Given the description of an element on the screen output the (x, y) to click on. 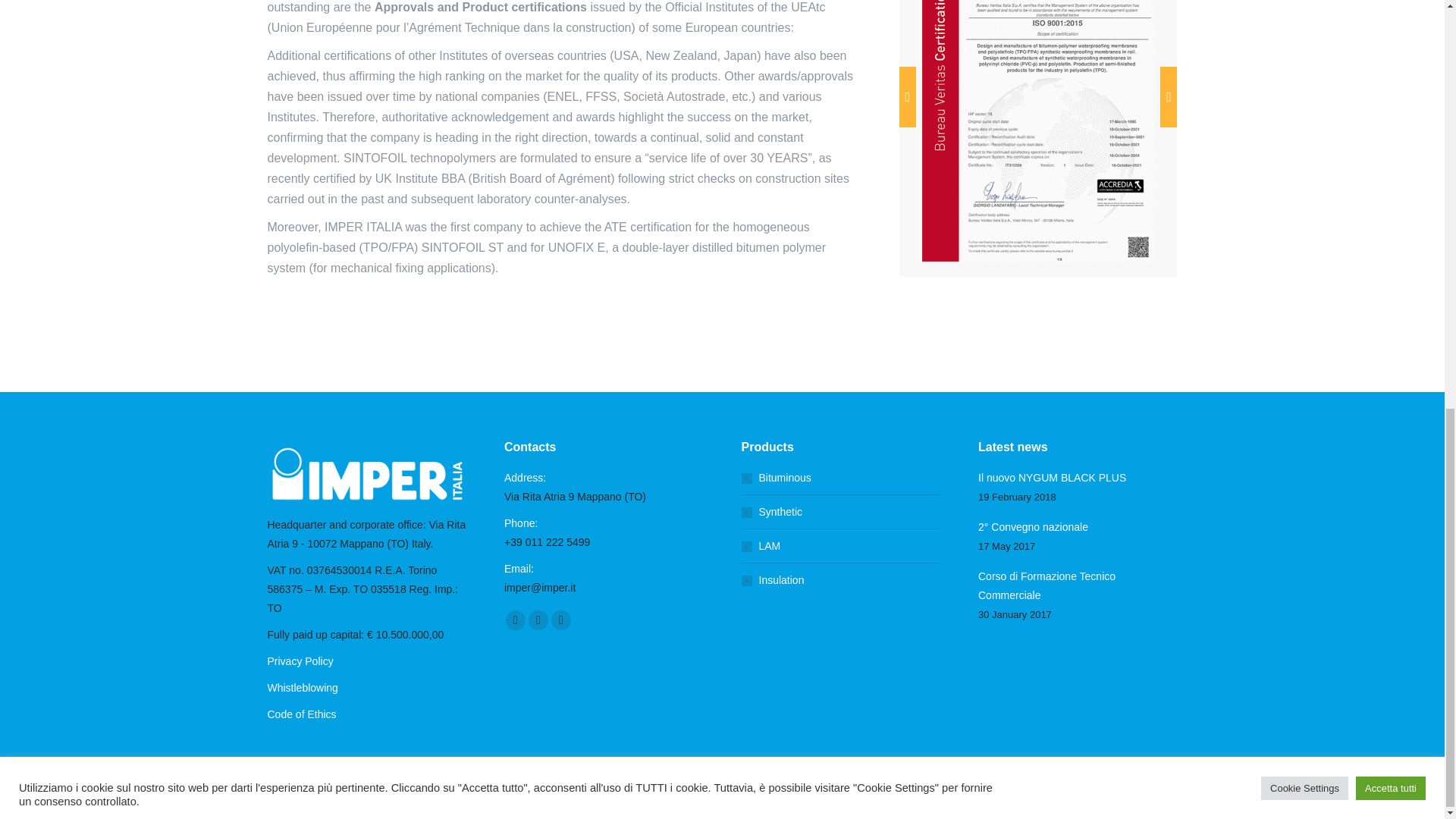
YouTube page opens in new window (538, 619)
Linkedin page opens in new window (560, 619)
Facebook page opens in new window (515, 619)
